Given the description of an element on the screen output the (x, y) to click on. 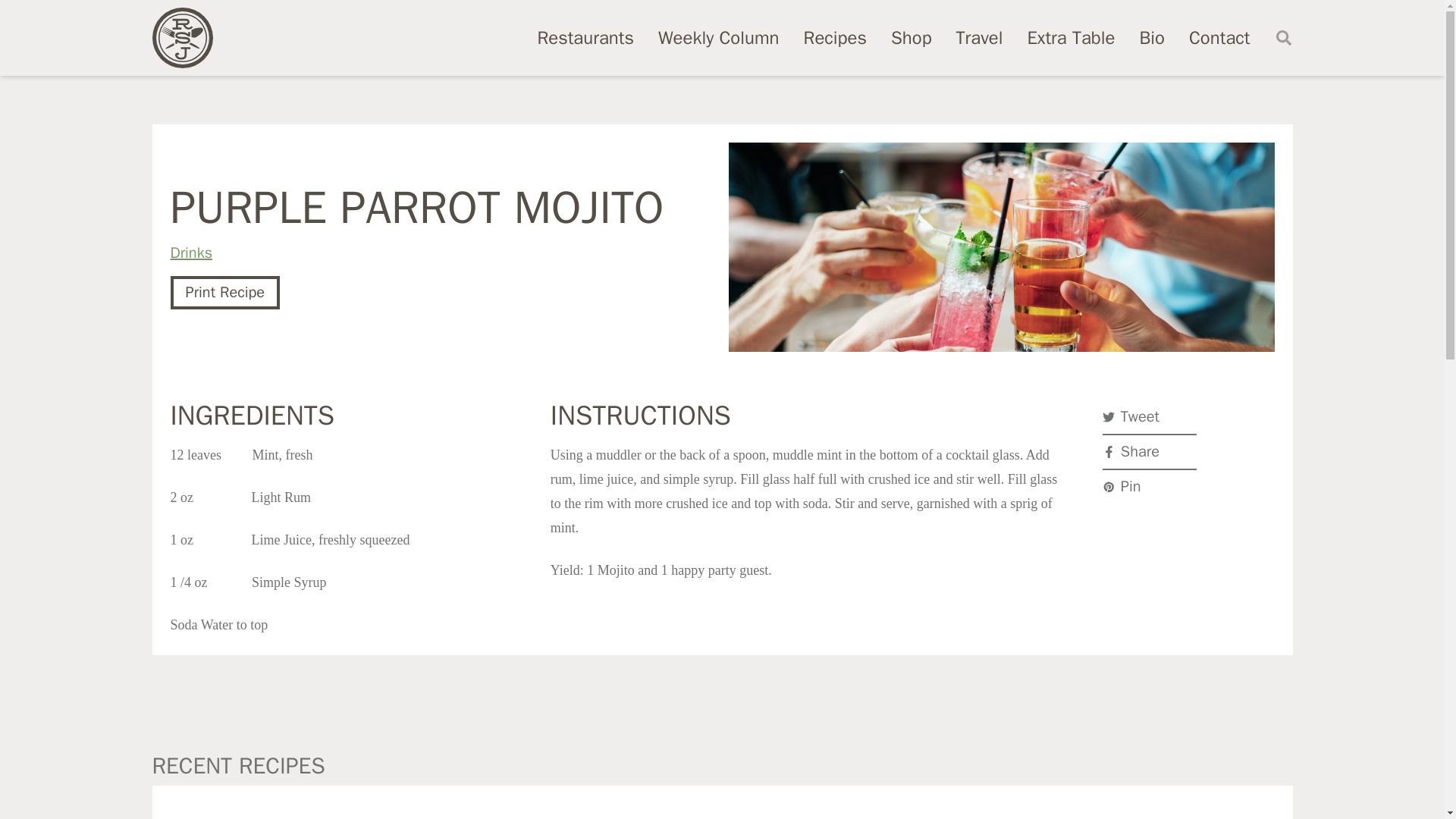
Shop (911, 37)
Pin (1149, 486)
Drinks (191, 252)
Bio (1151, 37)
Travel (979, 37)
Print Recipe (224, 292)
Tweet (1149, 417)
Extra Table (1070, 37)
Weekly Column (718, 37)
Contact (1219, 37)
